Given the description of an element on the screen output the (x, y) to click on. 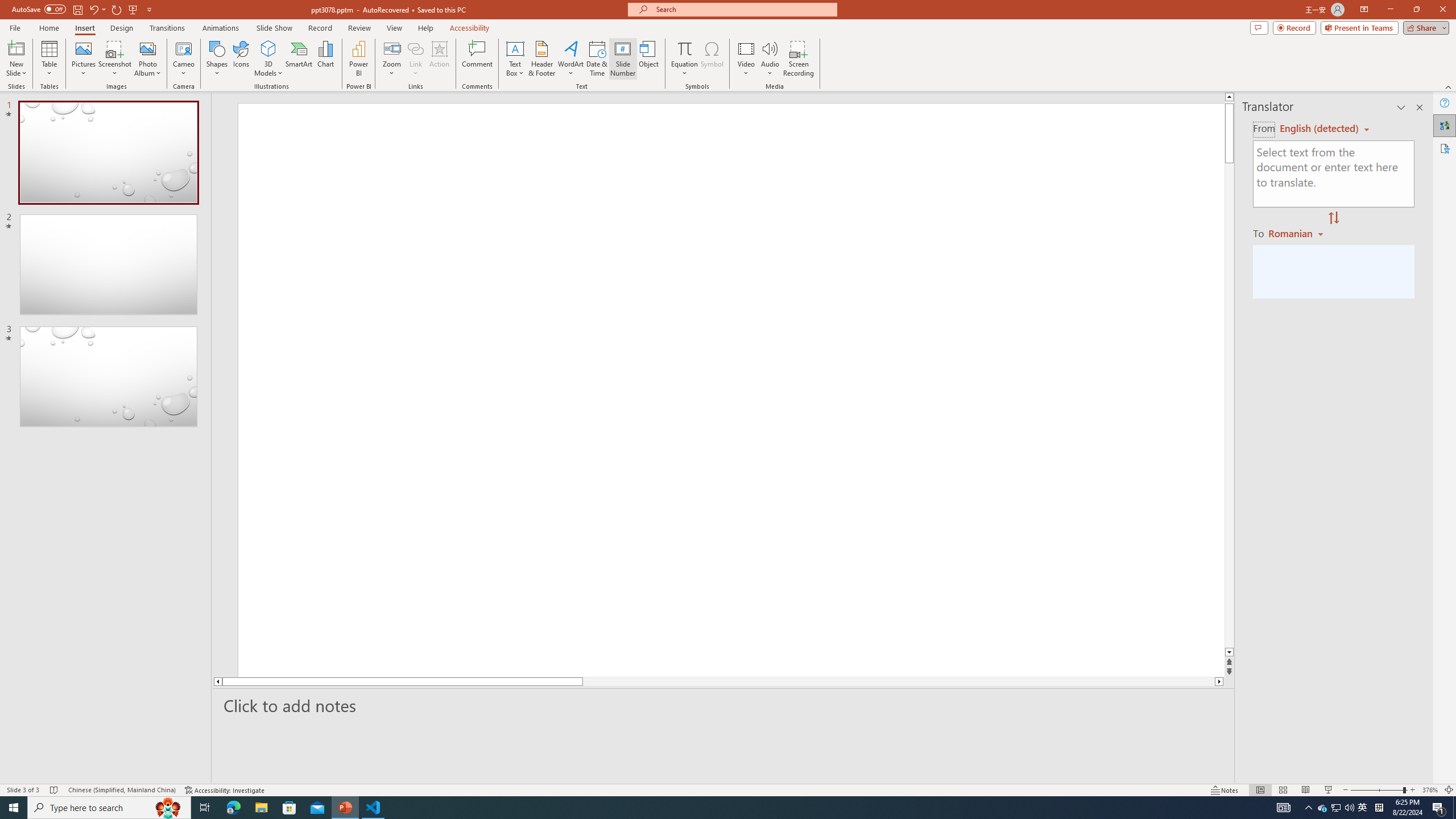
SmartArt... (298, 58)
Zoom 376% (1430, 790)
Power BI (358, 58)
